Given the description of an element on the screen output the (x, y) to click on. 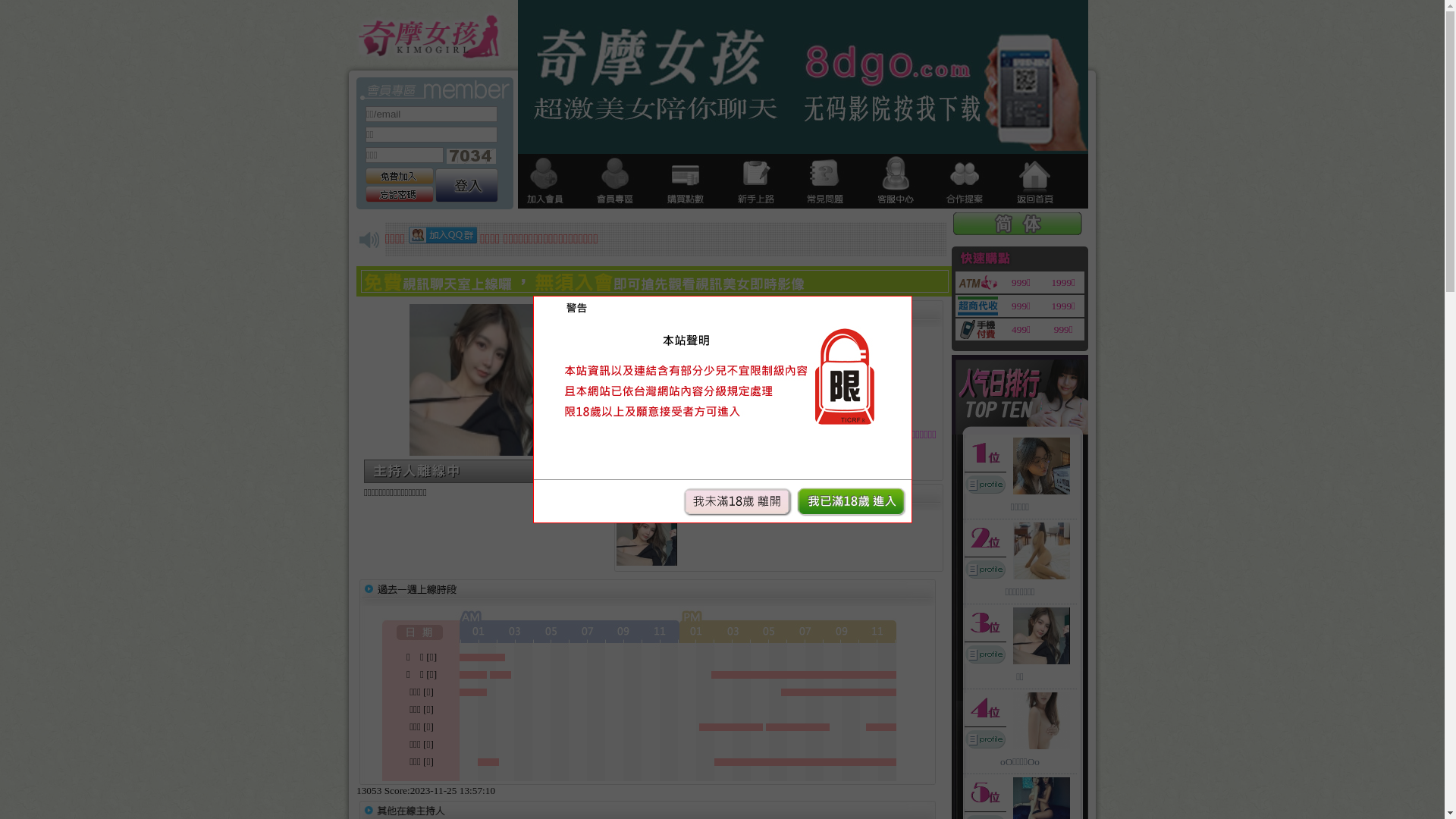
8dgoTV Element type: hover (442, 234)
